Given the description of an element on the screen output the (x, y) to click on. 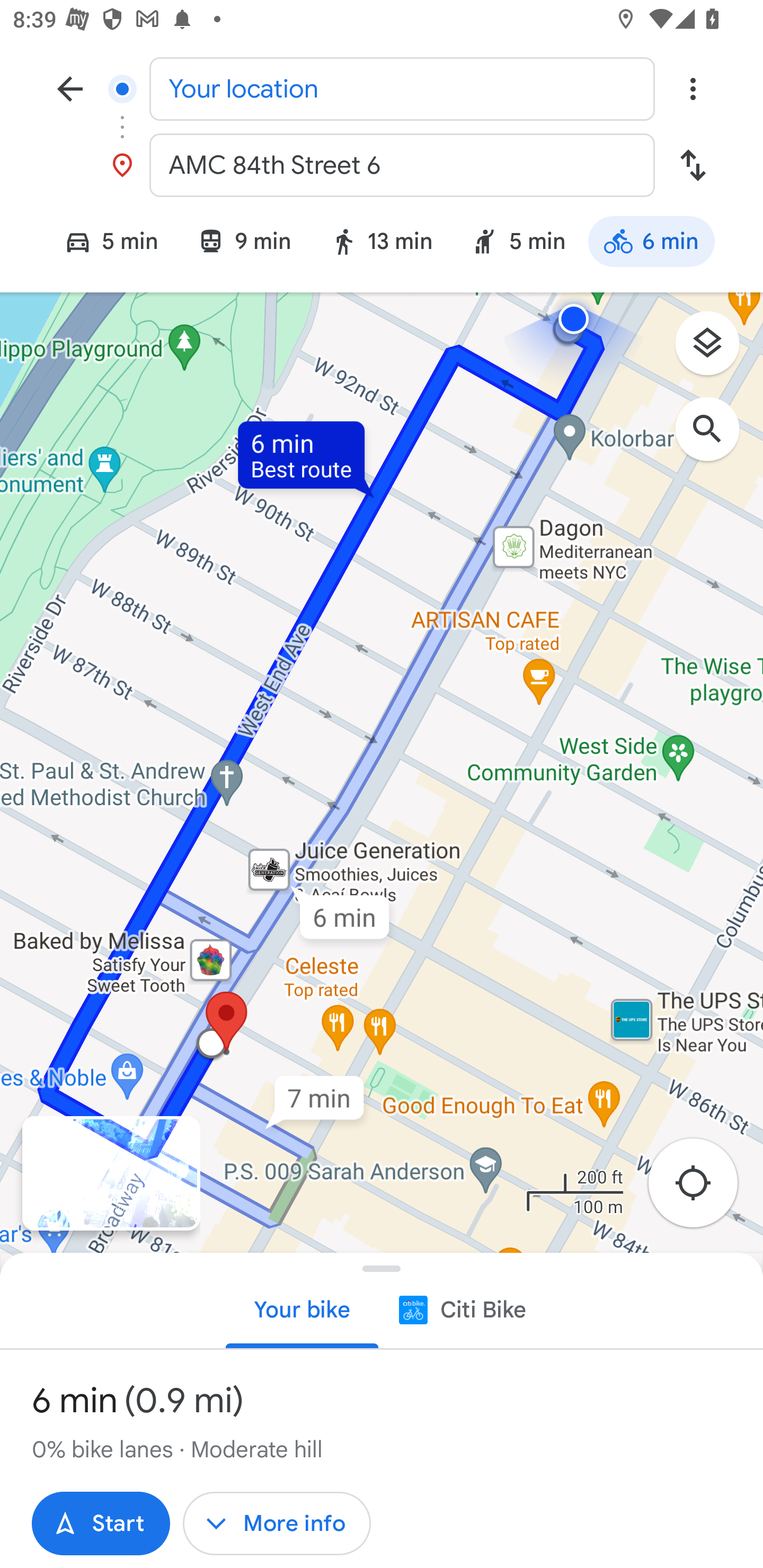
Navigate up (70, 88)
Your location Start location, Your location (381, 88)
Overflow menu (692, 88)
AMC 84th Street 6 Destination, AMC 84th Street 6 (381, 165)
Swap start and destination (692, 165)
Driving mode: 5 min 5 min (102, 244)
Transit mode: 9 min 9 min (243, 244)
Walking mode: 13 min 13 min (380, 244)
Ride service: 5 min 5 min (518, 244)
Layers (716, 349)
Search along route (716, 438)
Open Immersive View for routes (110, 1173)
Re-center map to your location (702, 1188)
Citi Bike (460, 1309)
More info More info More info (276, 1522)
